Given the description of an element on the screen output the (x, y) to click on. 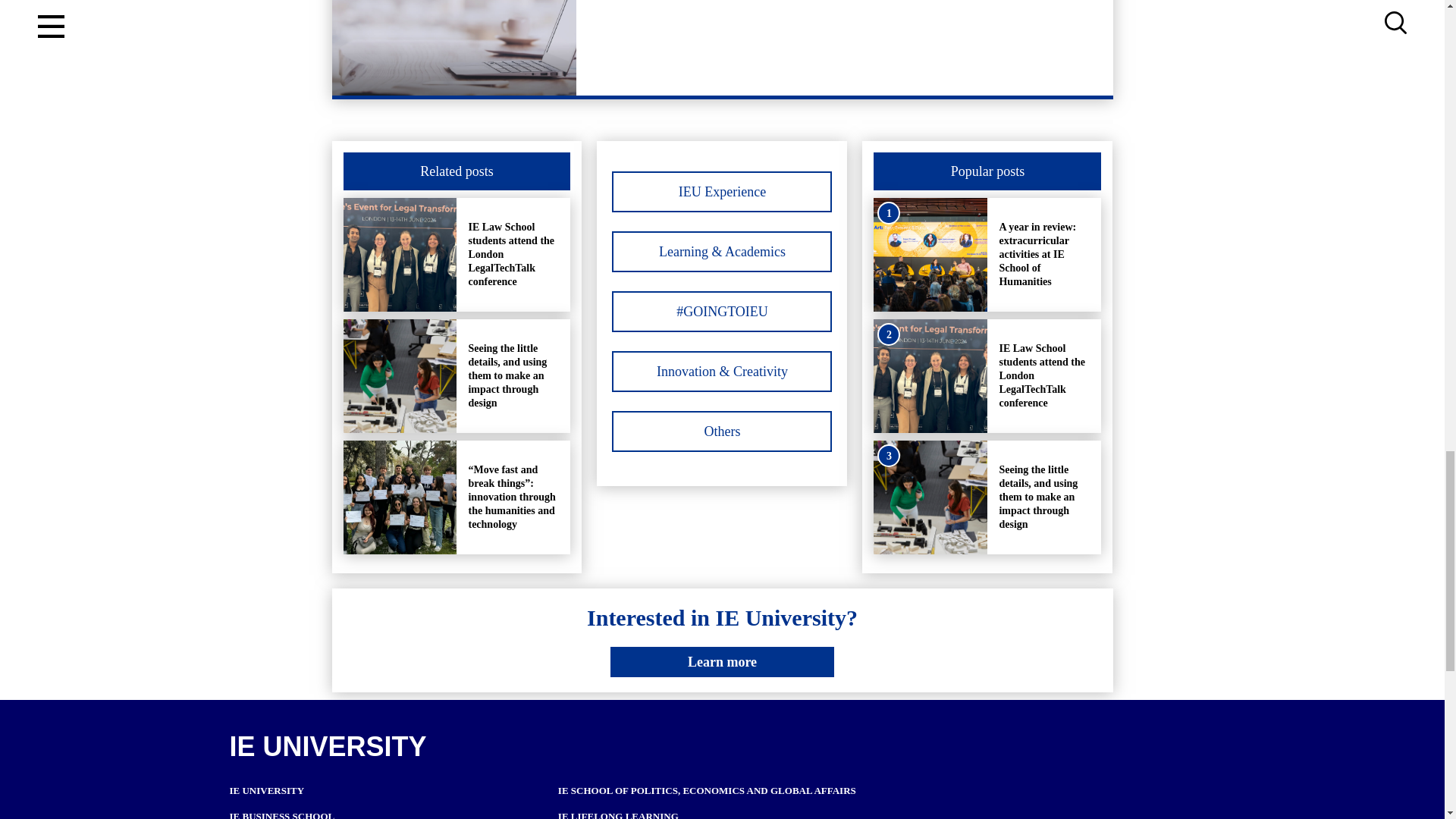
IE UNIVERSITY (266, 790)
Learn more (722, 662)
1 (930, 255)
IEU Experience (721, 191)
3 (930, 497)
Others (721, 431)
2 (930, 376)
